Given the description of an element on the screen output the (x, y) to click on. 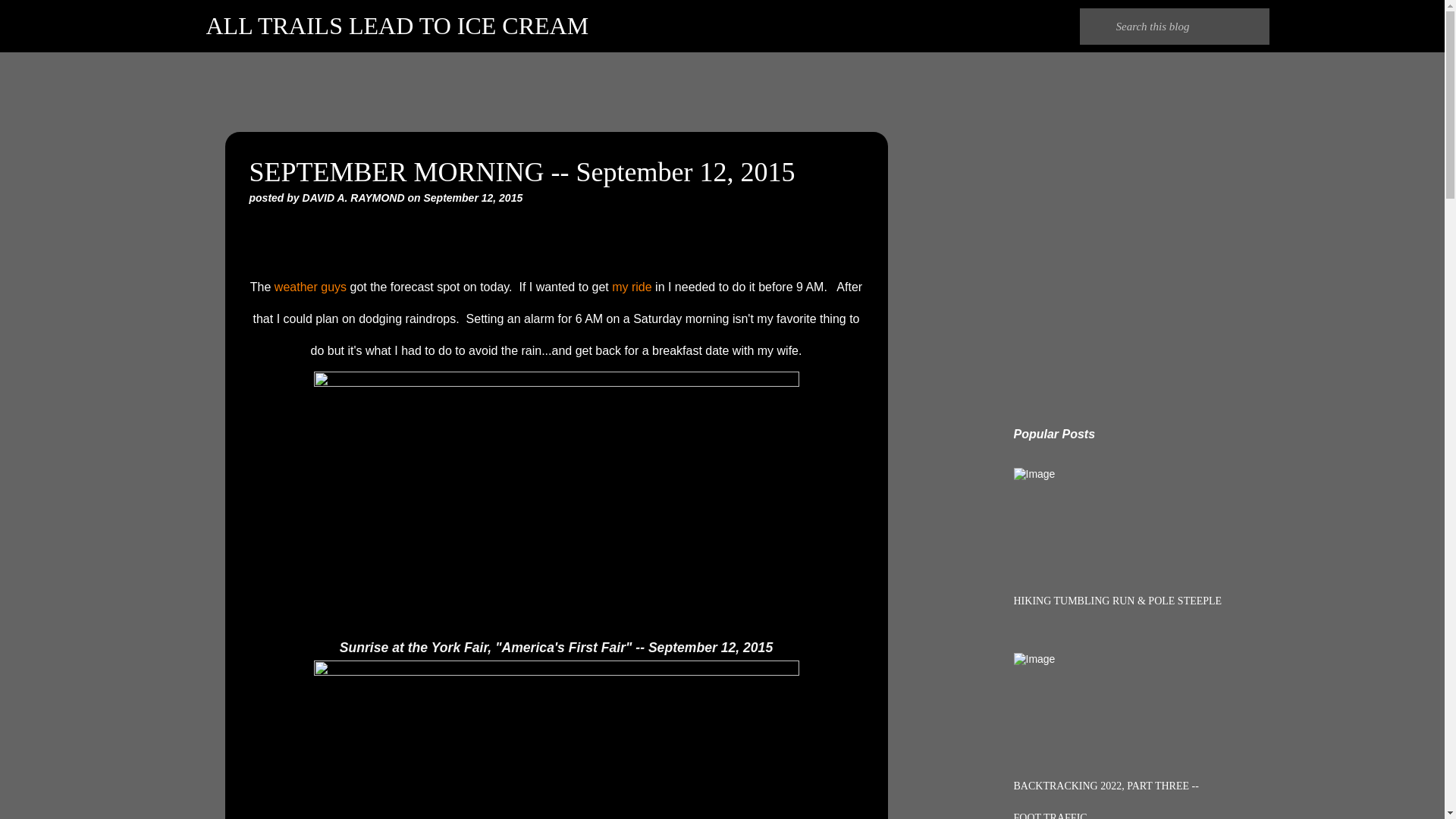
BACKTRACKING 2022, PART THREE -- FOOT TRAFFIC (1105, 799)
September 12, 2015 (472, 197)
ALL TRAILS LEAD TO ICE CREAM (397, 25)
weather guys (310, 286)
author profile (354, 197)
my ride (630, 286)
permanent link (472, 197)
DAVID A. RAYMOND (354, 197)
